Given the description of an element on the screen output the (x, y) to click on. 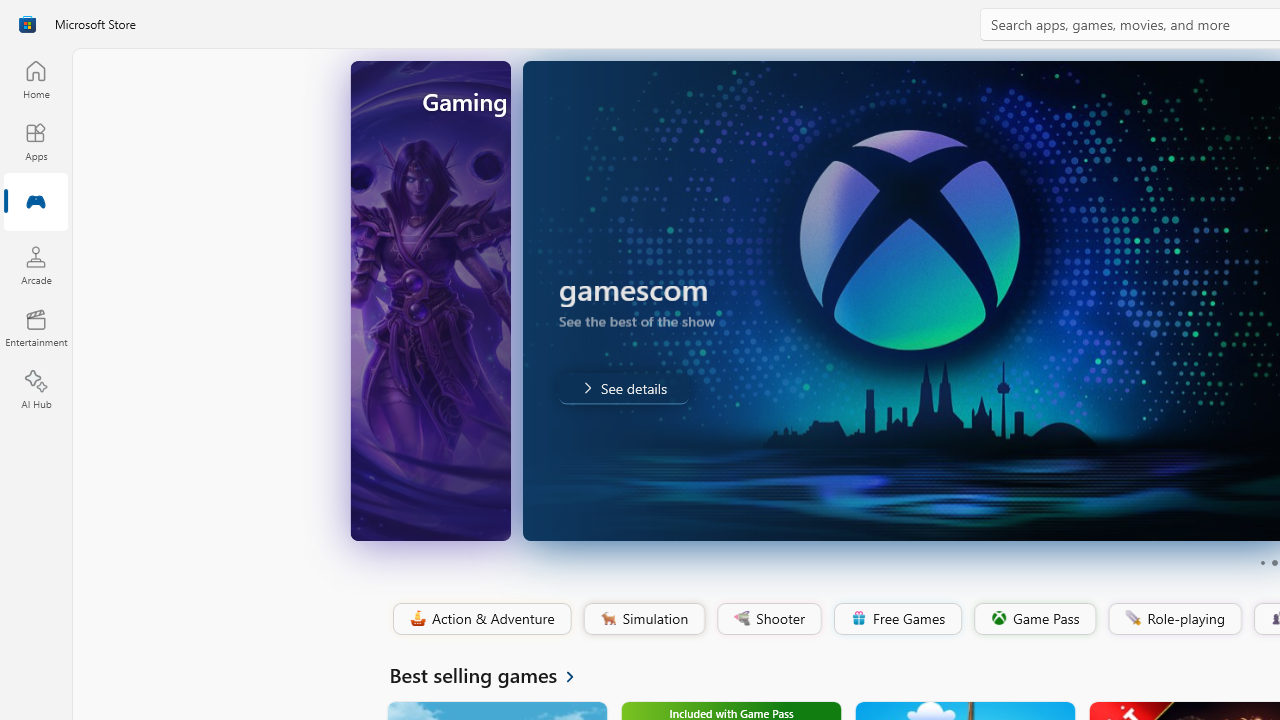
Class: Image (1132, 617)
Role-playing (1174, 619)
Apps (35, 141)
